Given the description of an element on the screen output the (x, y) to click on. 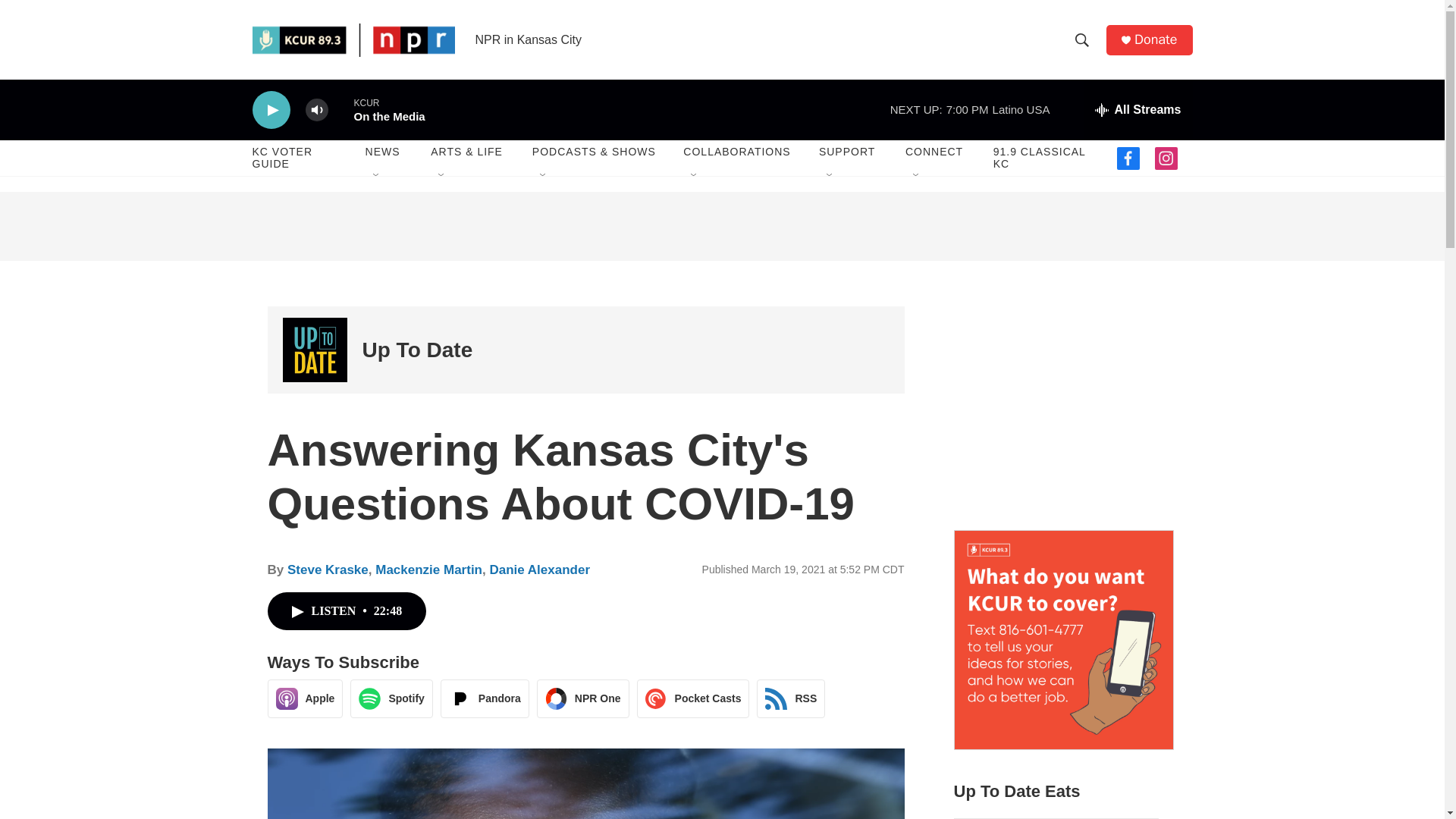
3rd party ad content (721, 226)
3rd party ad content (1062, 401)
